Given the description of an element on the screen output the (x, y) to click on. 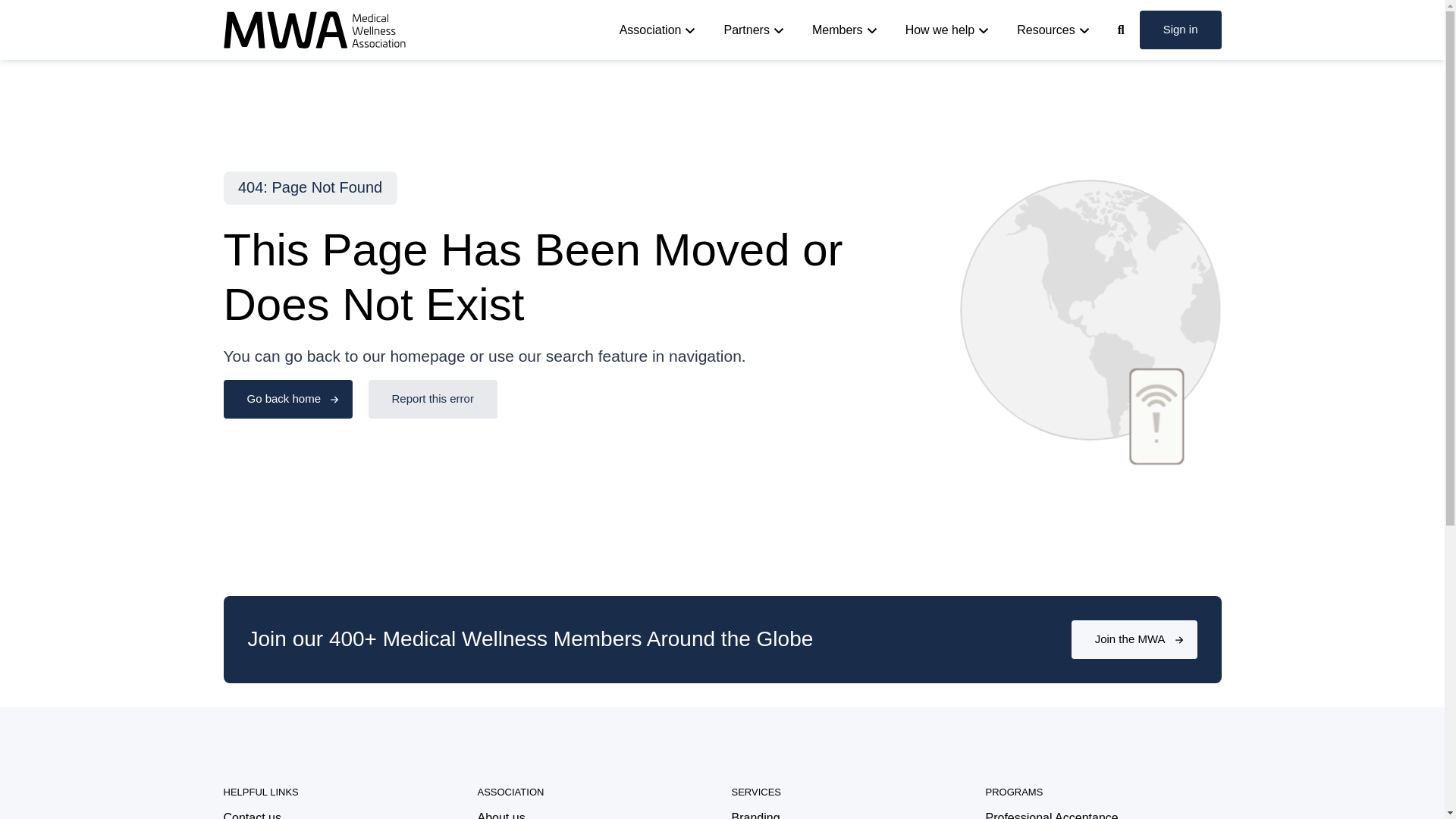
Partners (755, 30)
Members (846, 30)
Association (659, 30)
Resources (1054, 30)
How we help (949, 30)
